Given the description of an element on the screen output the (x, y) to click on. 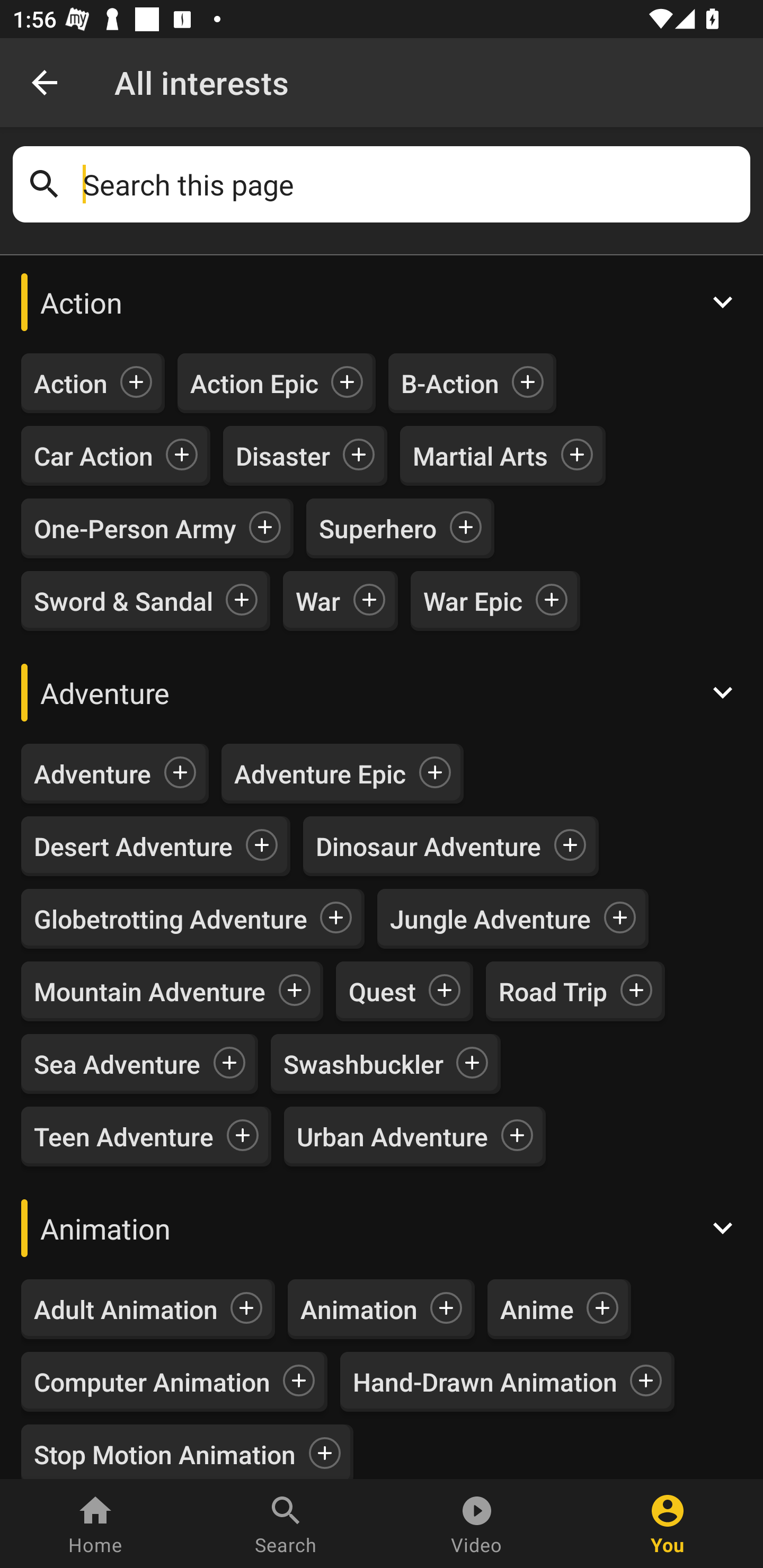
Search this page (410, 184)
Action (381, 301)
Action (70, 382)
Action Epic (254, 382)
B-Action (449, 382)
Car Action (93, 456)
Disaster (282, 456)
Martial Arts (479, 456)
One-Person Army (134, 528)
Superhero (377, 528)
Sword & Sandal (123, 600)
War (318, 600)
War Epic (472, 600)
Adventure (381, 692)
Adventure (92, 772)
Adventure Epic (319, 772)
Desert Adventure (133, 846)
Dinosaur Adventure (427, 846)
Globetrotting Adventure (170, 918)
Jungle Adventure (490, 918)
Mountain Adventure (149, 990)
Quest (381, 990)
Road Trip (553, 990)
Sea Adventure (117, 1063)
Swashbuckler (363, 1063)
Teen Adventure (123, 1136)
Urban Adventure (392, 1136)
Animation (381, 1228)
Adult Animation (125, 1309)
Animation (358, 1309)
Anime (536, 1309)
Computer Animation (152, 1381)
Hand-Drawn Animation (485, 1381)
Stop Motion Animation (165, 1450)
Home (95, 1523)
Search (285, 1523)
Video (476, 1523)
